Given the description of an element on the screen output the (x, y) to click on. 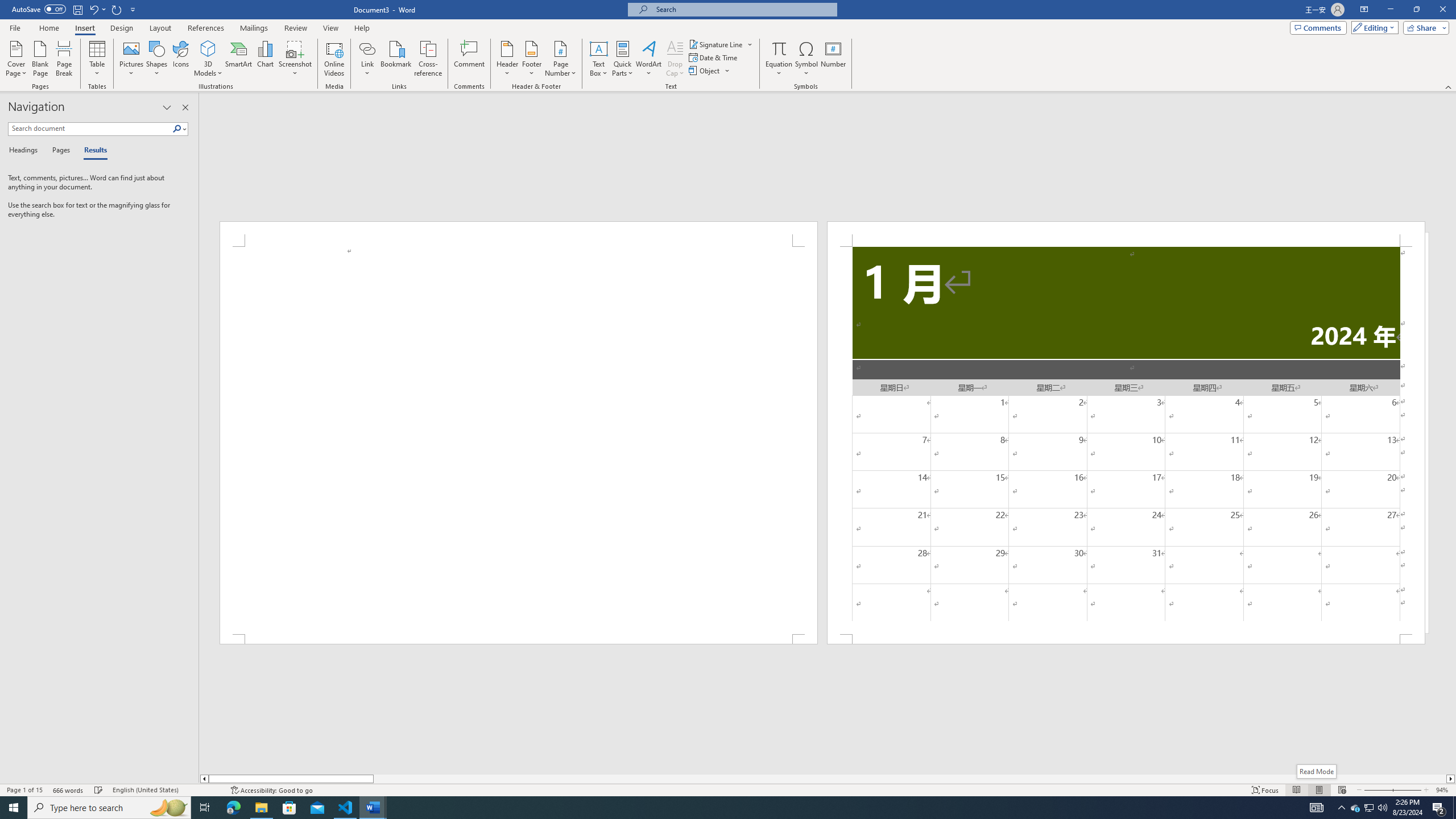
Undo New Page (92, 9)
References (205, 28)
Equation (778, 48)
Chart... (265, 58)
Customize Quick Access Toolbar (133, 9)
Search (179, 128)
System (6, 6)
Language English (United States) (165, 790)
Layout (160, 28)
Cross-reference... (428, 58)
Blank Page (40, 58)
Search document (89, 128)
AutoSave (38, 9)
Review (295, 28)
